Given the description of an element on the screen output the (x, y) to click on. 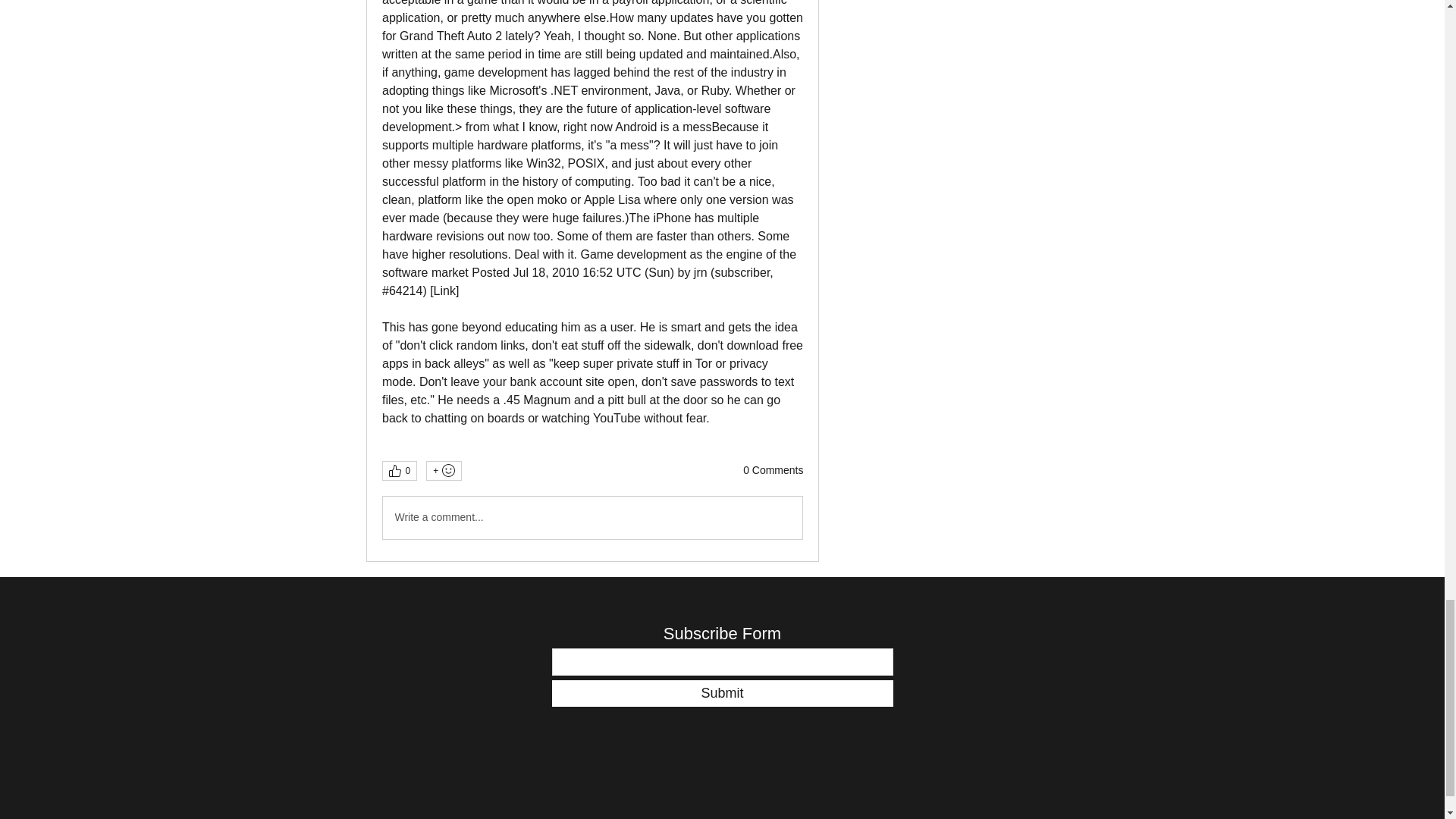
0 Comments (772, 470)
Write a comment... (591, 517)
Submit (722, 693)
